Given the description of an element on the screen output the (x, y) to click on. 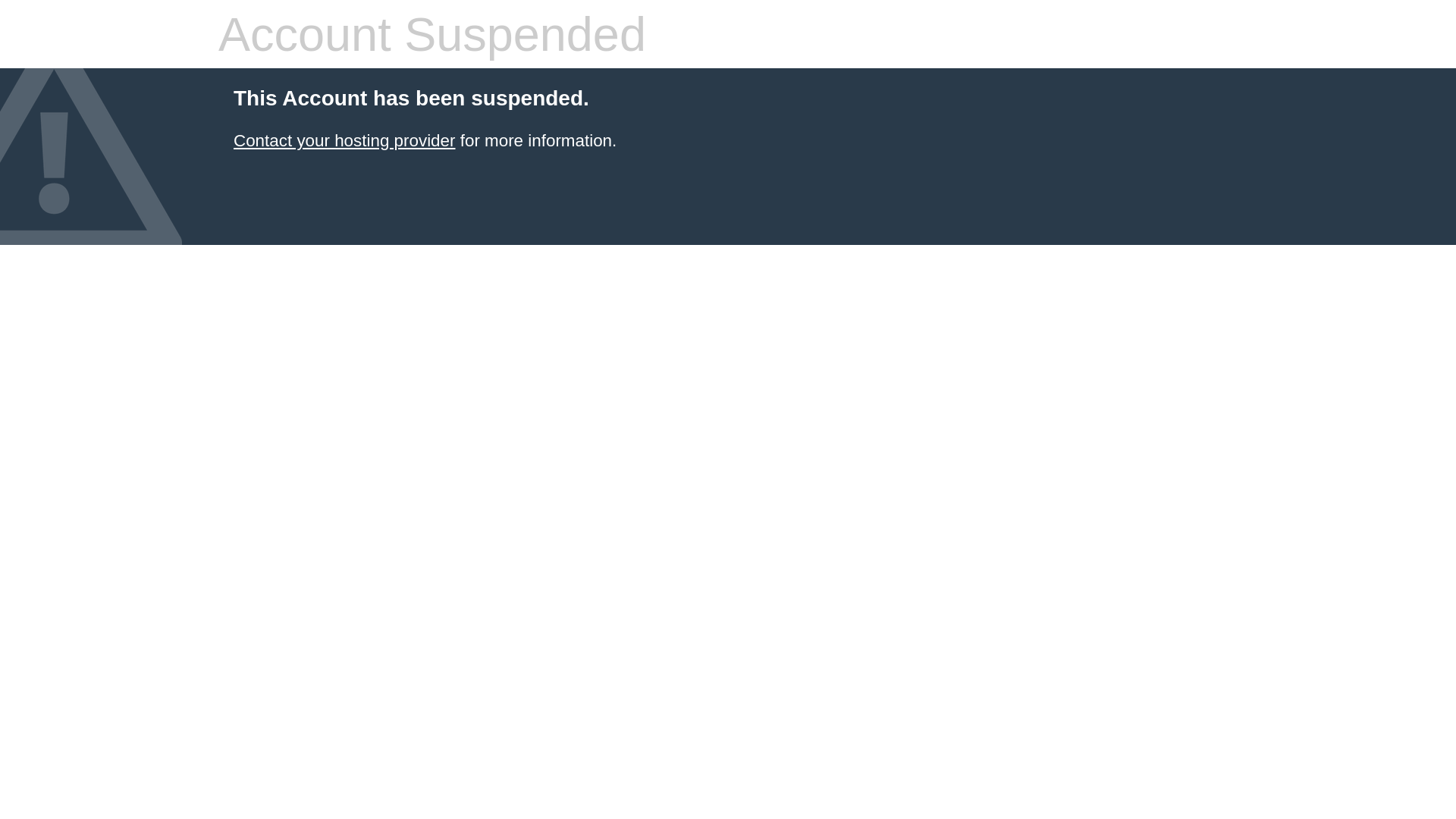
Contact your hosting provider Element type: text (344, 140)
